Given the description of an element on the screen output the (x, y) to click on. 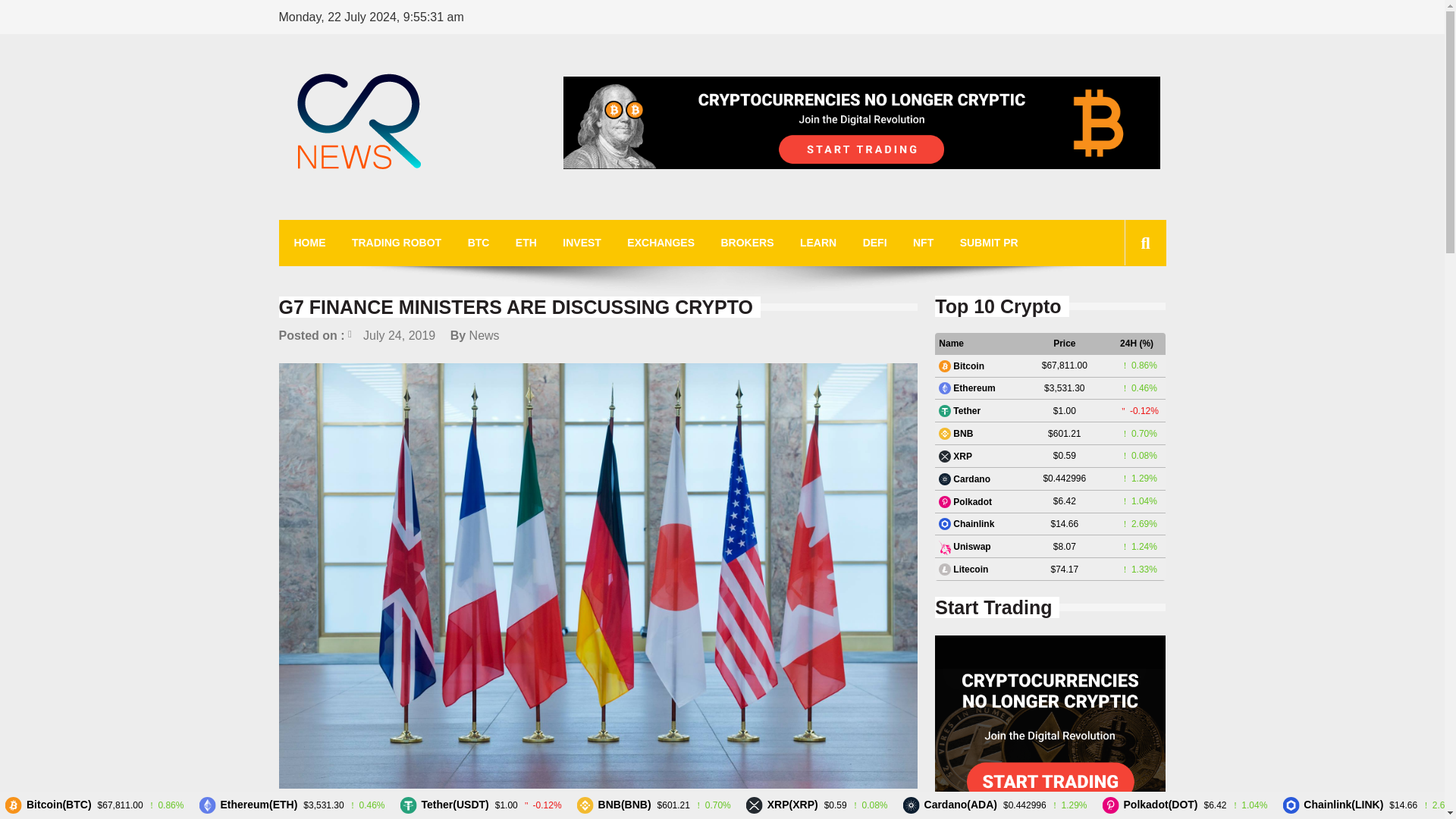
SUBMIT PR (988, 243)
CryptocyNews.com (402, 212)
News (483, 335)
Trading Robot Review (861, 122)
BROKERS (746, 243)
Search (1120, 311)
Interesting (311, 809)
Trading Robot Review (1050, 727)
TRADING ROBOT (396, 243)
July 24, 2019 (391, 335)
Posts by News (483, 335)
EXCHANGES (660, 243)
cryptocy-2-1 - CryptocyNews.com (359, 123)
